Given the description of an element on the screen output the (x, y) to click on. 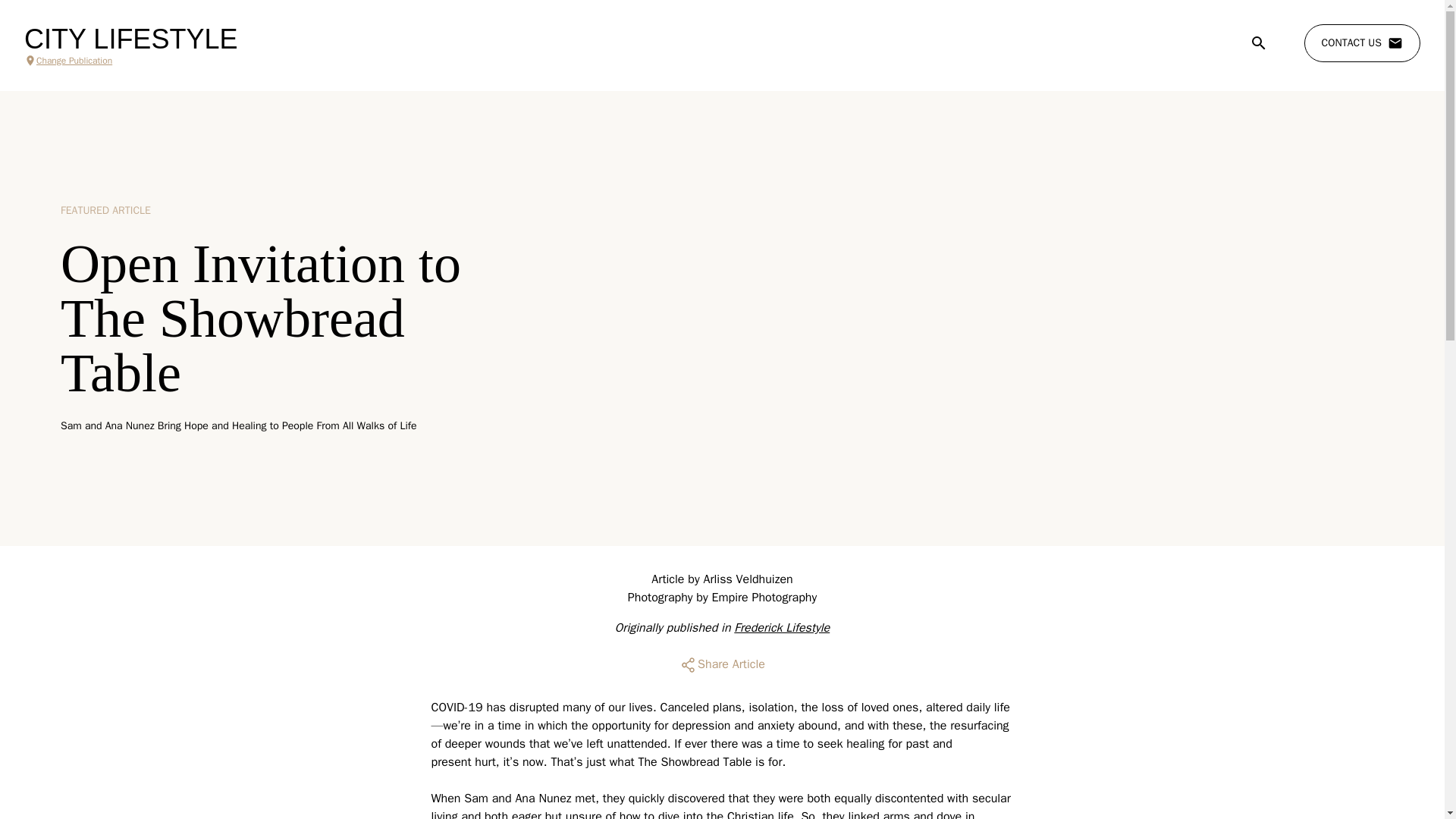
CONTACT US (1362, 43)
CITY LIFESTYLE (130, 39)
Frederick Lifestyle (781, 627)
Change Publication (130, 60)
Share Article (722, 664)
